Given the description of an element on the screen output the (x, y) to click on. 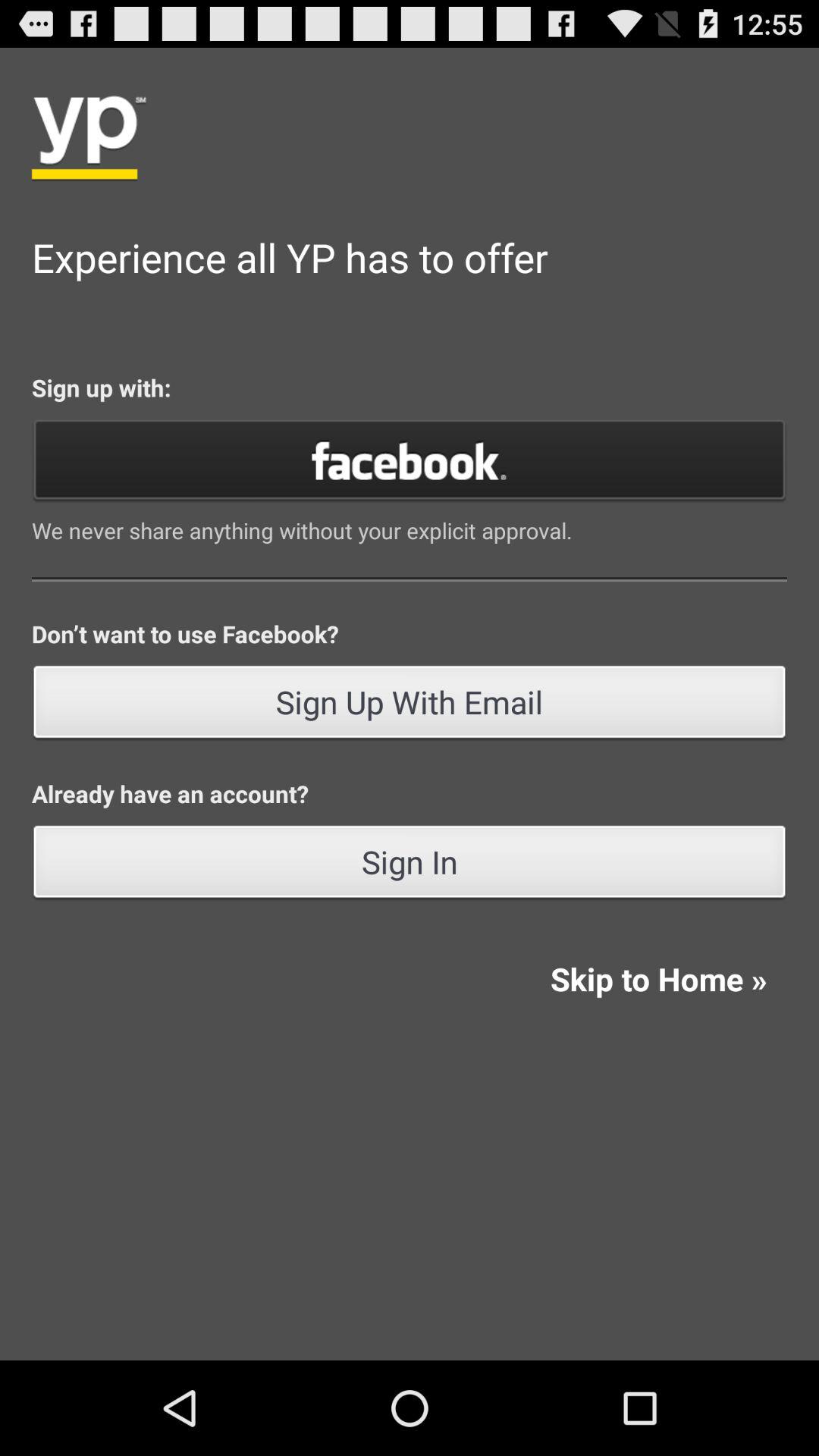
turn off the icon at the bottom right corner (658, 978)
